Given the description of an element on the screen output the (x, y) to click on. 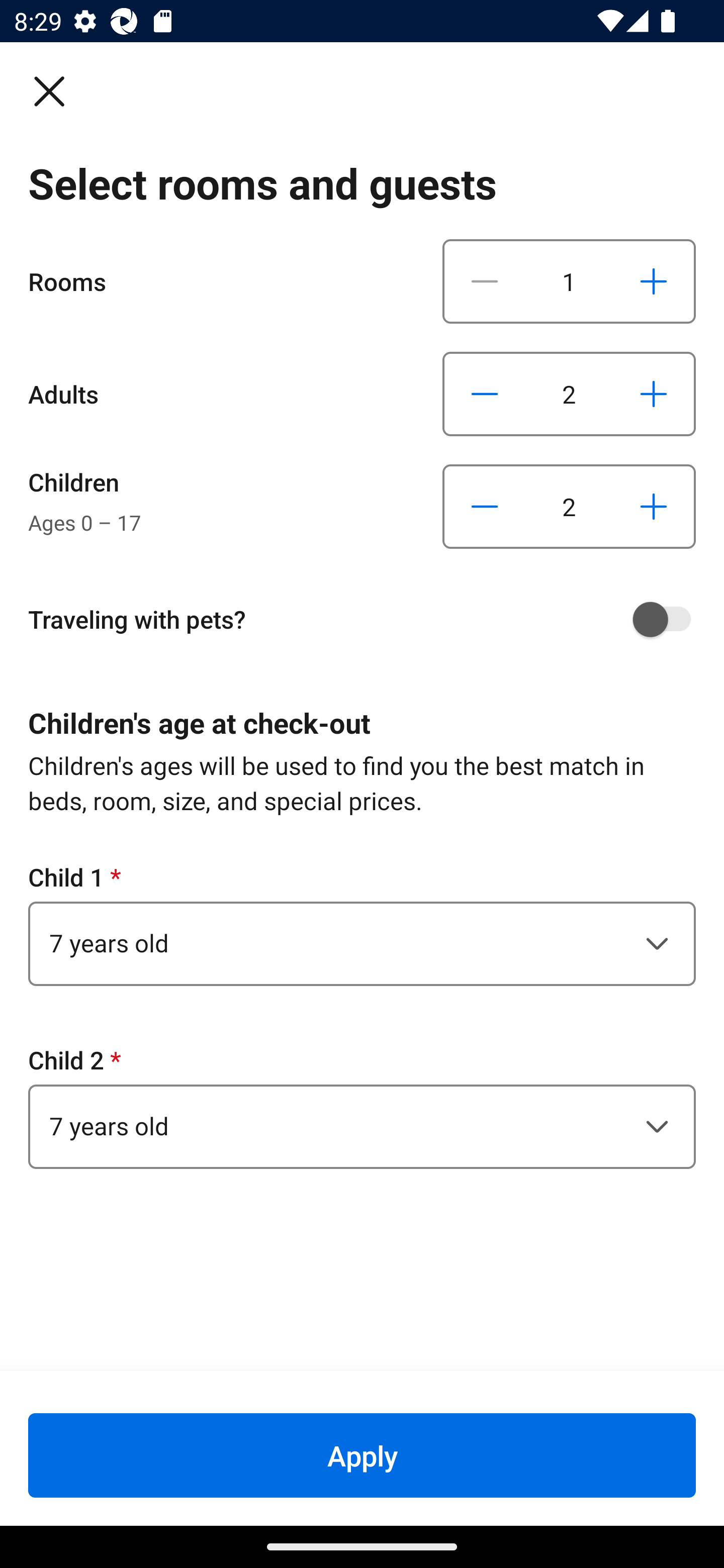
Decrease (484, 281)
Increase (653, 281)
Decrease (484, 393)
Increase (653, 393)
Decrease (484, 506)
Increase (653, 506)
Traveling with pets? (369, 619)
Child 1
required Child 1 * 7 years old (361, 922)
Child 2
required Child 2 * 7 years old (361, 1105)
Apply (361, 1454)
